Given the description of an element on the screen output the (x, y) to click on. 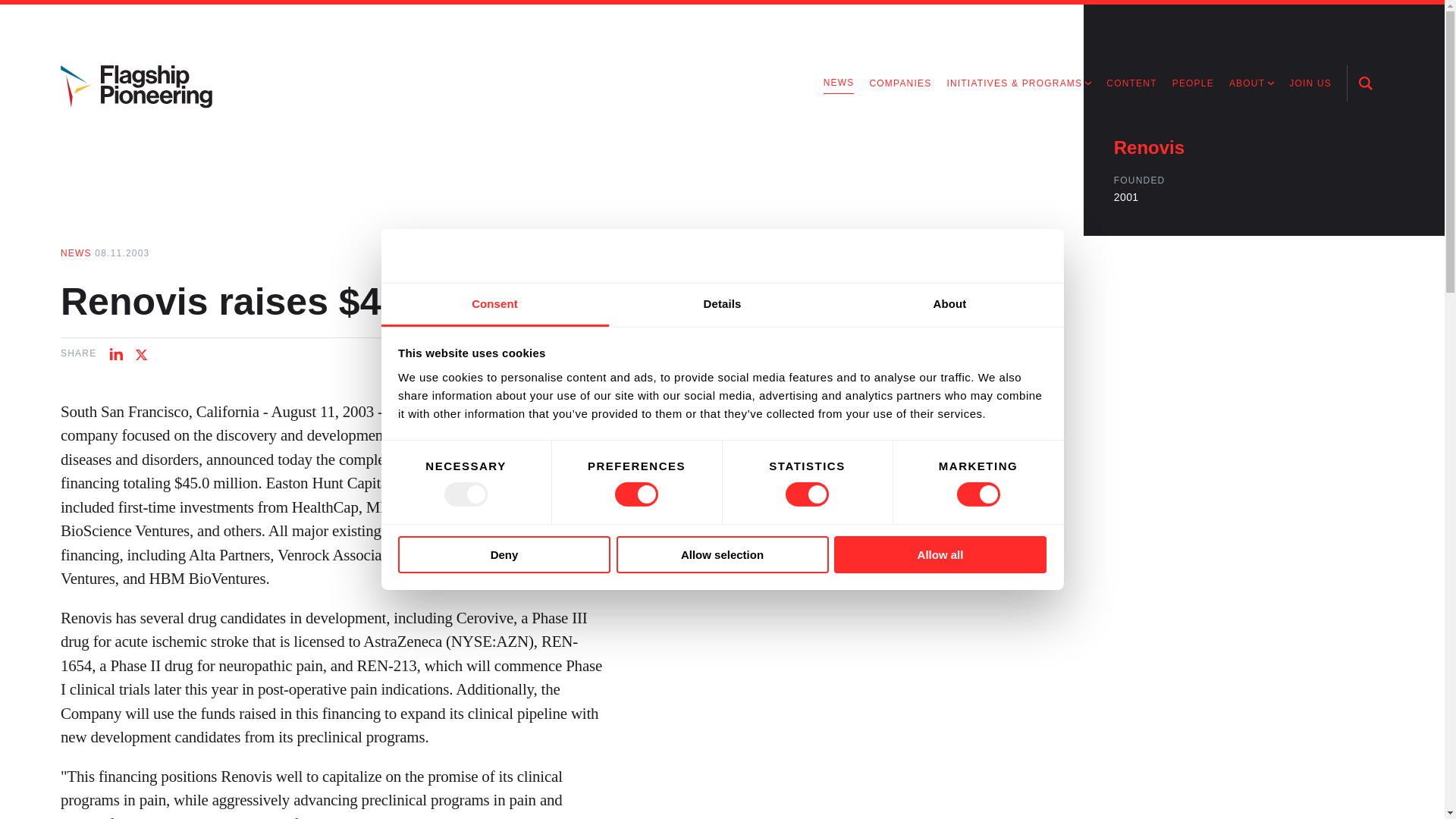
Consent (494, 304)
Details (721, 304)
About (948, 304)
